Given the description of an element on the screen output the (x, y) to click on. 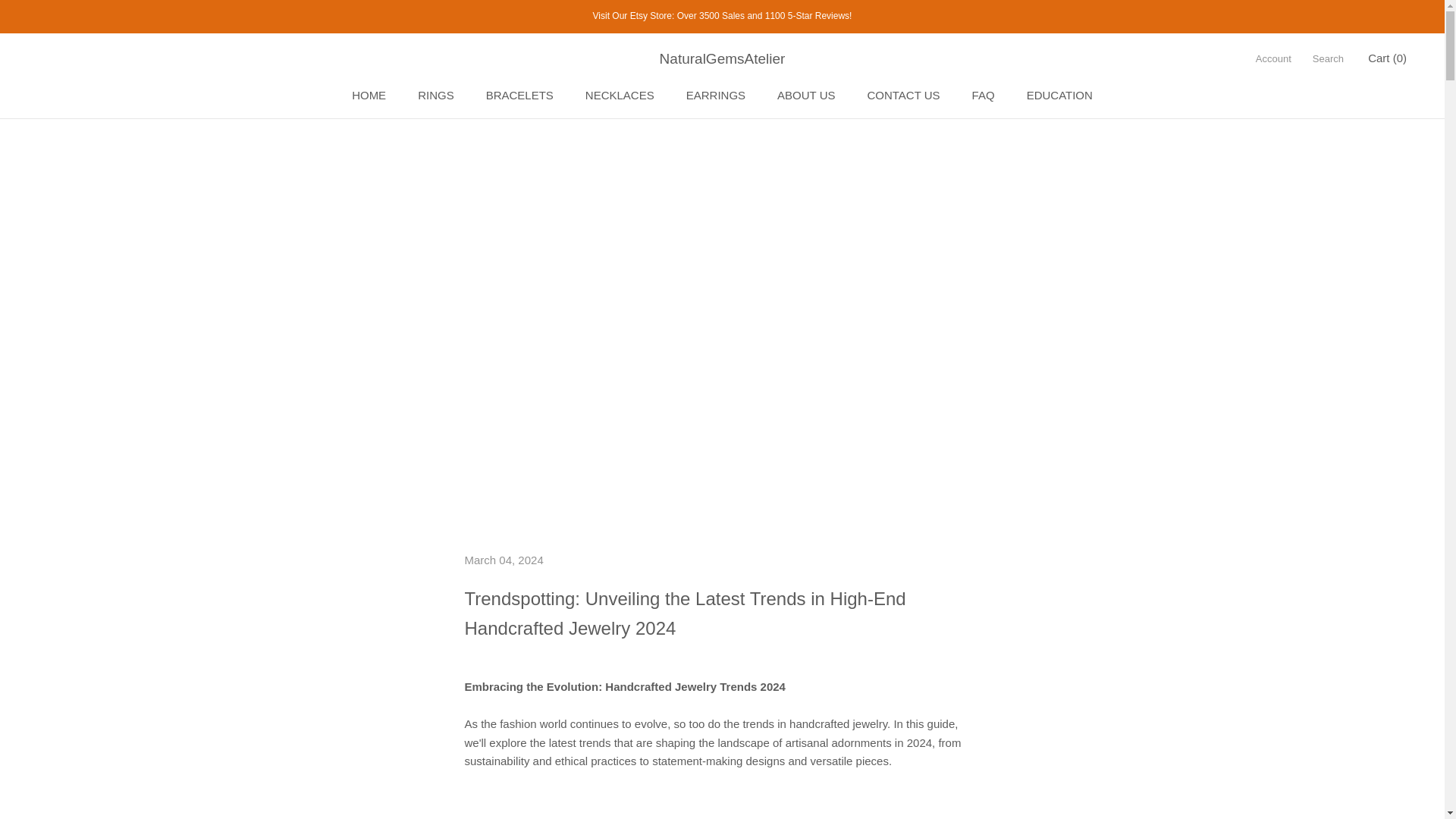
Search (715, 94)
NaturalGemsAtelier (1328, 58)
Account (722, 58)
